Given the description of an element on the screen output the (x, y) to click on. 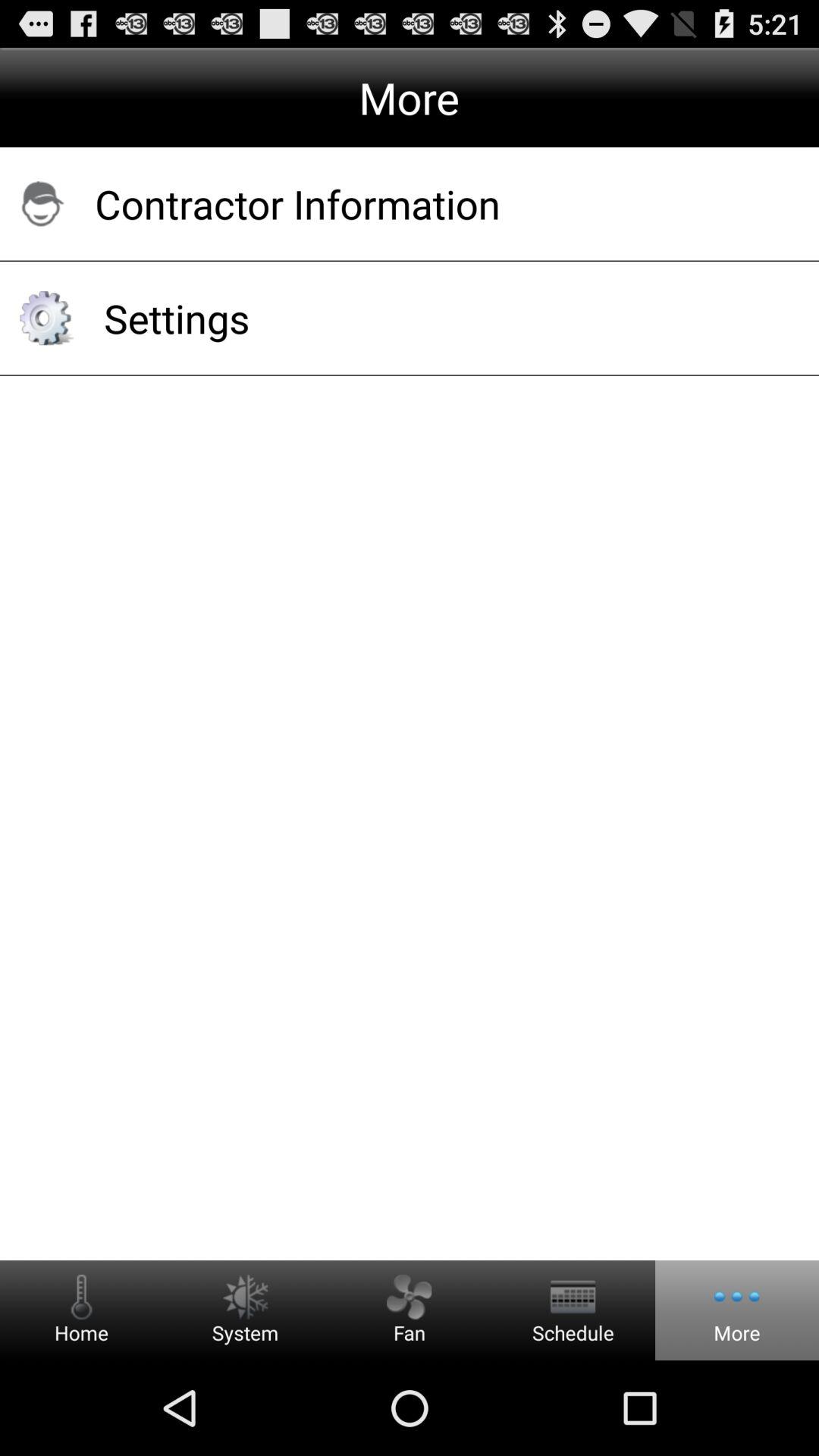
select contractor information app (437, 203)
